Given the description of an element on the screen output the (x, y) to click on. 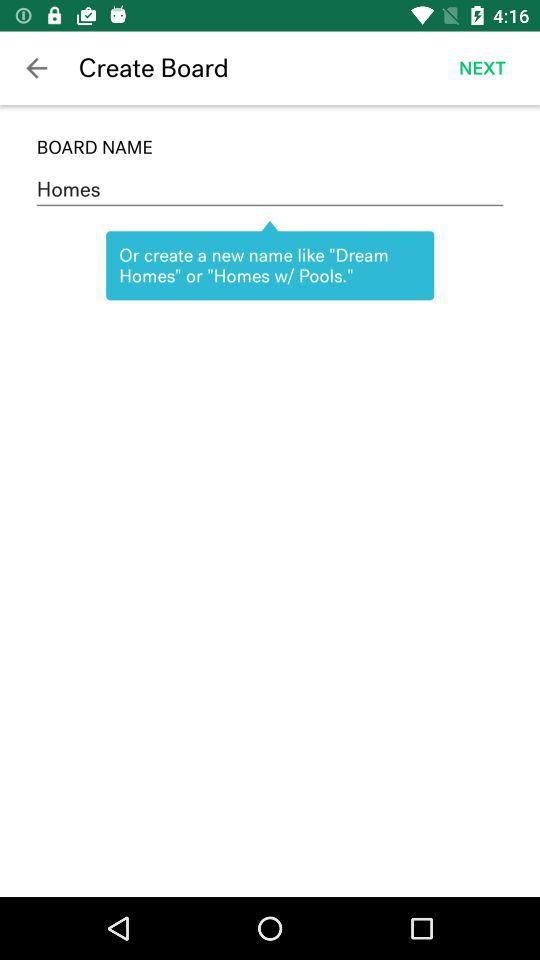
turn on item to the right of create board icon (482, 68)
